Given the description of an element on the screen output the (x, y) to click on. 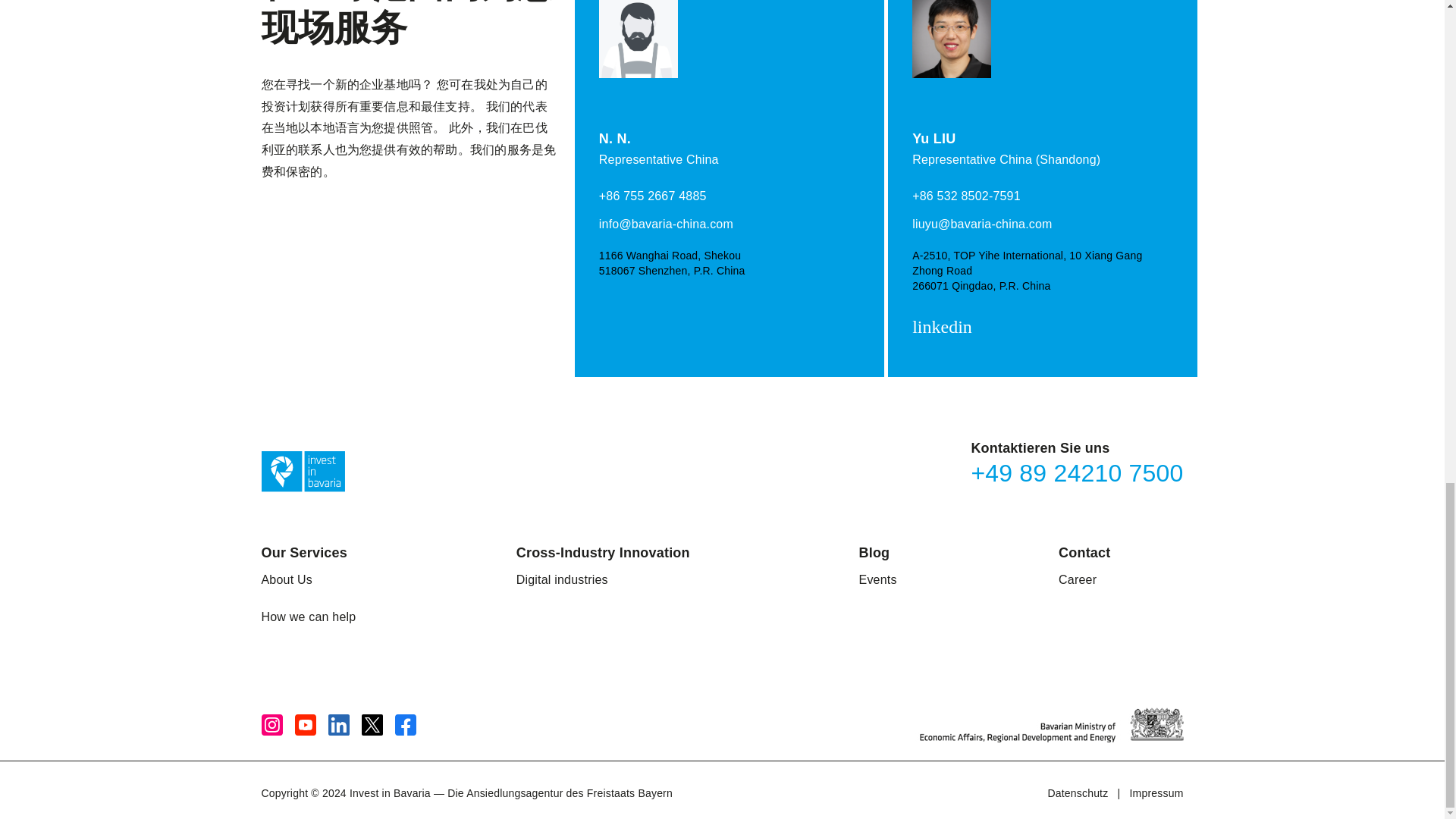
How we can help (307, 617)
Digital industries (562, 580)
linkedin (945, 328)
Cross-Industry Innovation (603, 552)
Our Services (303, 552)
About Us (285, 580)
Blog (874, 552)
